Given the description of an element on the screen output the (x, y) to click on. 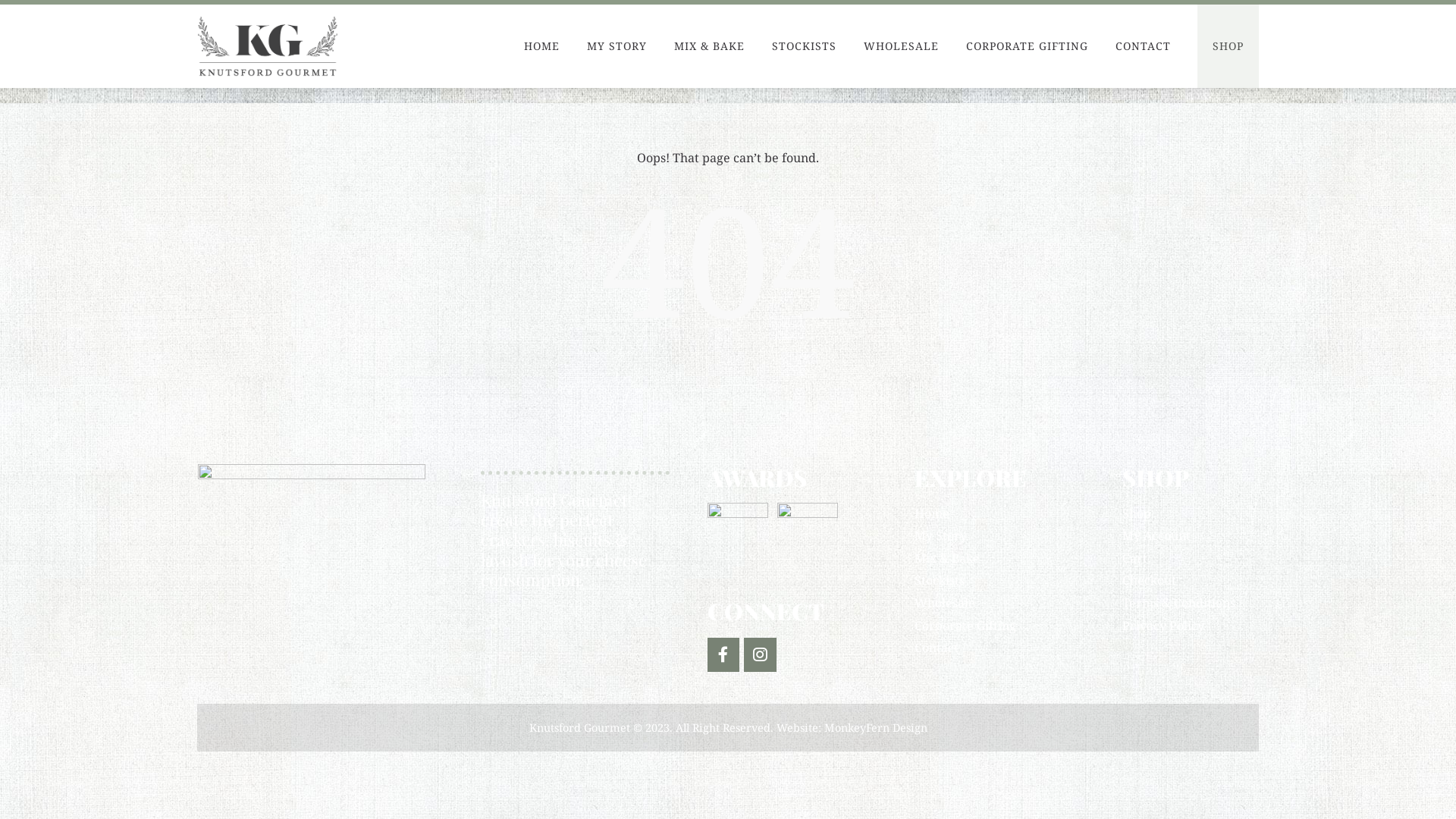
Shop Element type: text (1136, 513)
Facebook Element type: hover (759, 654)
CORPORATE GIFTING Element type: text (1026, 45)
Home Element type: text (931, 513)
Stockists Element type: text (939, 579)
Wholesale Element type: text (944, 602)
Facebook Element type: hover (723, 654)
Privacy Policy Element type: text (1163, 625)
Checkout Element type: text (1149, 579)
MIX & BAKE Element type: text (709, 45)
My Account Element type: text (1156, 535)
Corporate Gifting Element type: text (965, 625)
Cart Element type: text (1134, 557)
CONTACT Element type: text (1143, 45)
SHOP Element type: text (1227, 45)
WHOLESALE Element type: text (901, 45)
Contact Element type: text (936, 647)
HOME Element type: text (541, 45)
Mix & Bake Element type: text (946, 557)
Terms & Conditions Element type: text (1178, 602)
STOCKISTS Element type: text (803, 45)
My Story Element type: text (940, 535)
MY STORY Element type: text (616, 45)
